Given the description of an element on the screen output the (x, y) to click on. 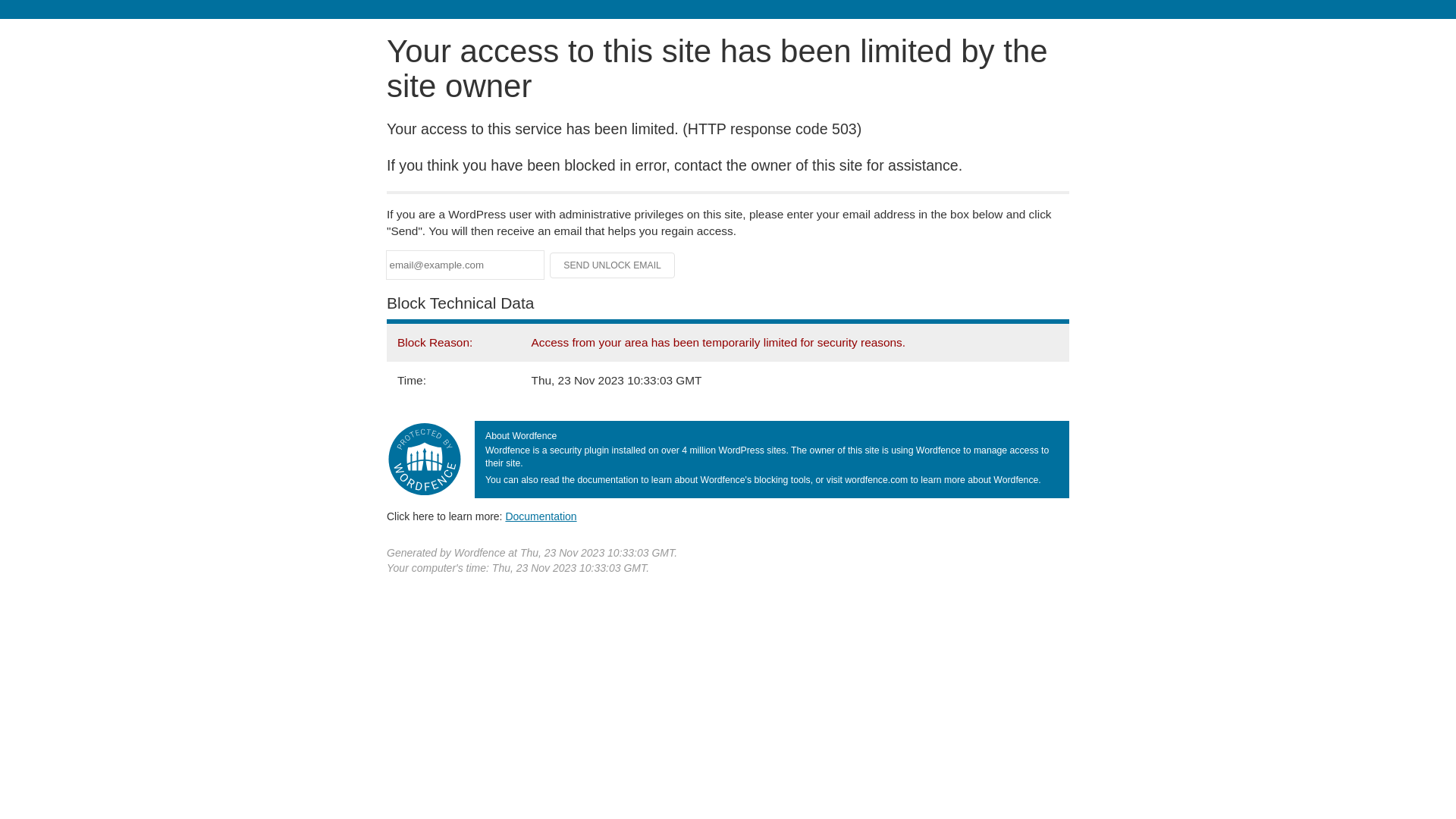
Send Unlock Email Element type: text (612, 265)
Documentation Element type: text (540, 516)
